Given the description of an element on the screen output the (x, y) to click on. 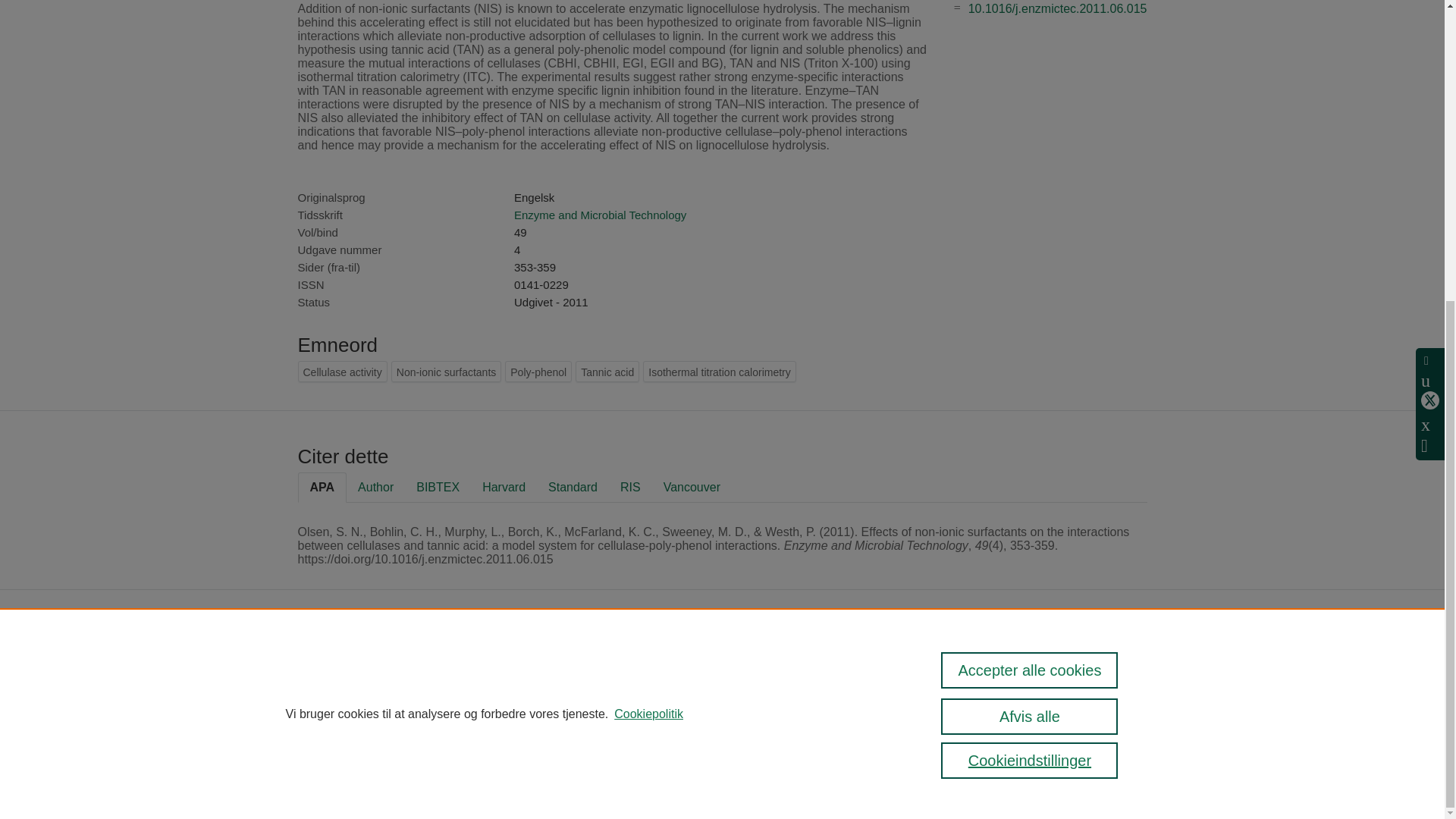
Kontakt os (1125, 671)
Scopus (541, 665)
Pure (509, 665)
brug af cookies (605, 740)
Cookieindstillinger (497, 761)
Log ind i Pure (486, 781)
Enzyme and Microbial Technology (599, 214)
Cookiepolitik (648, 245)
Elsevier B.V. (692, 685)
